Given the description of an element on the screen output the (x, y) to click on. 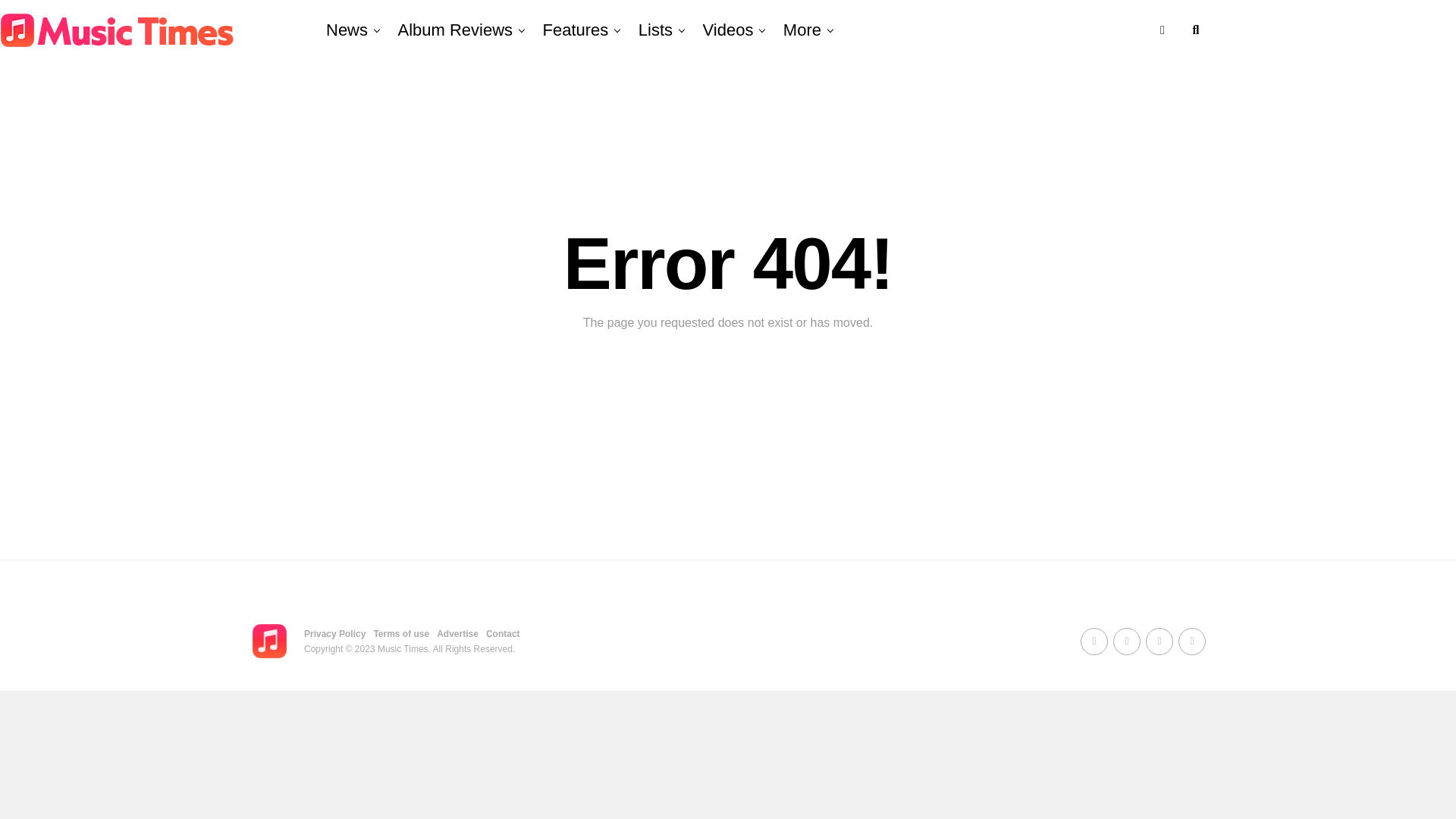
Videos (728, 30)
News (346, 30)
Features (575, 30)
Album Reviews (454, 30)
